Given the description of an element on the screen output the (x, y) to click on. 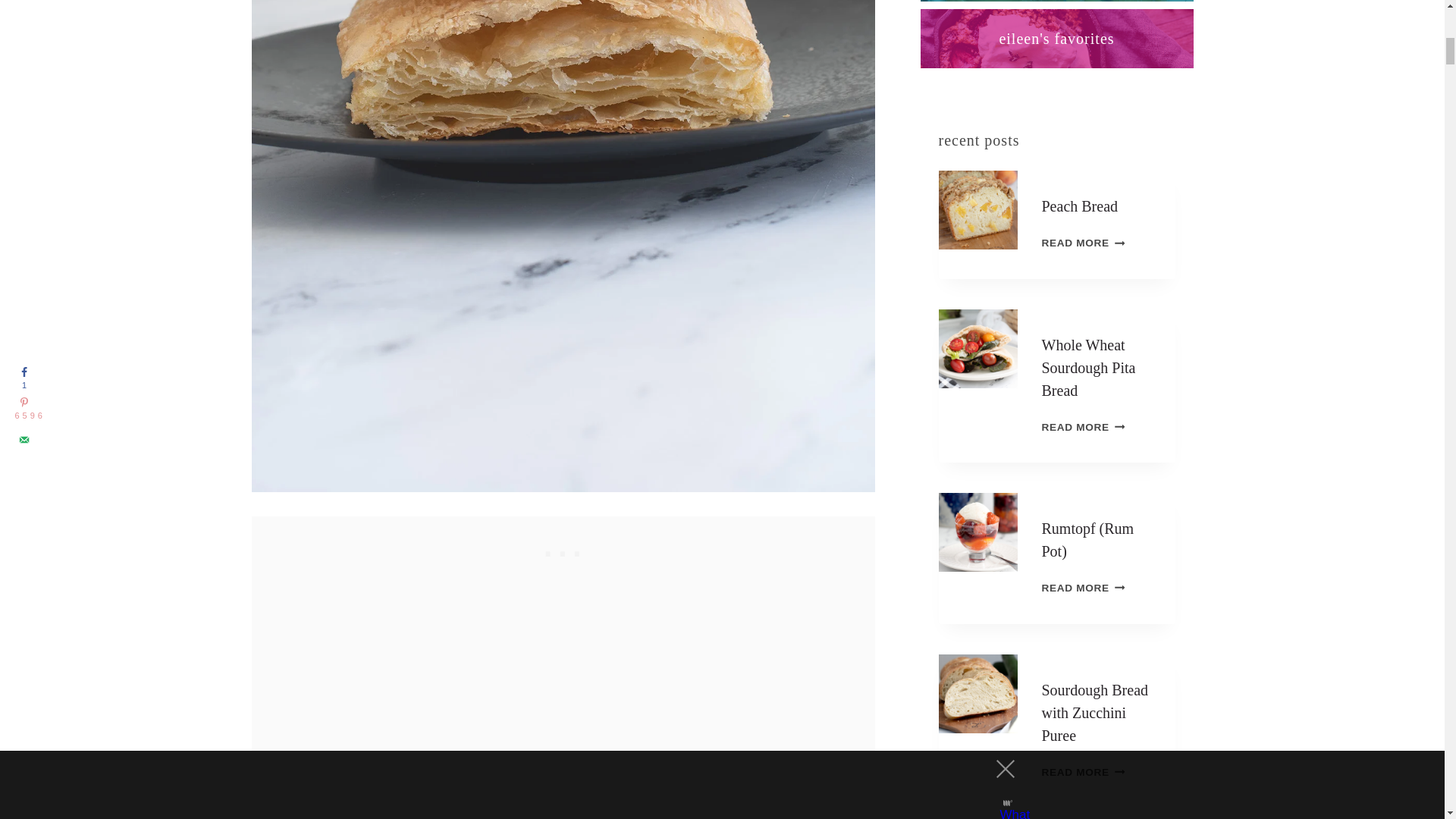
3rd party ad content (563, 550)
